Given the description of an element on the screen output the (x, y) to click on. 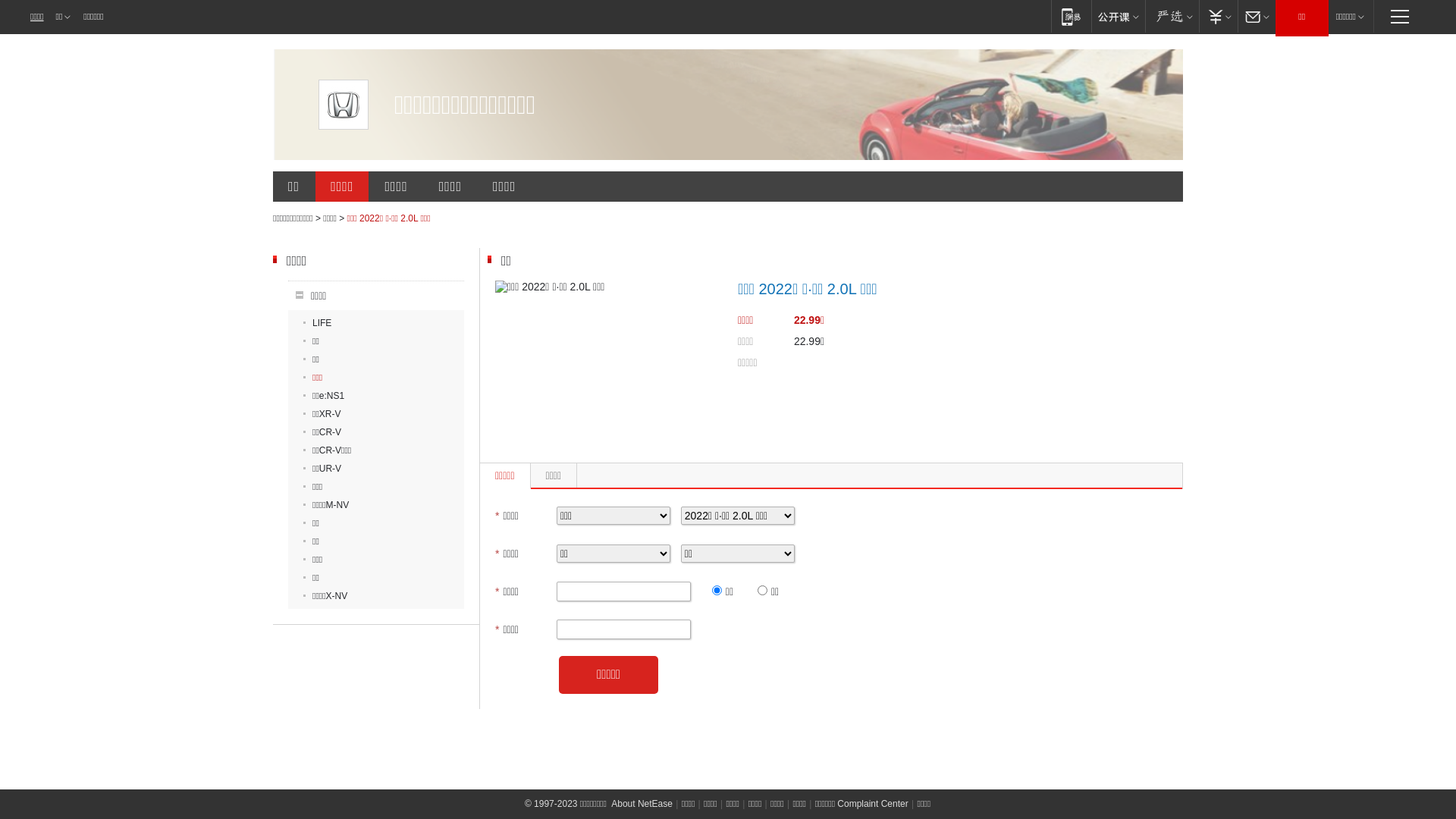
LIFE Element type: text (317, 322)
About NetEase Element type: text (641, 803)
